Given the description of an element on the screen output the (x, y) to click on. 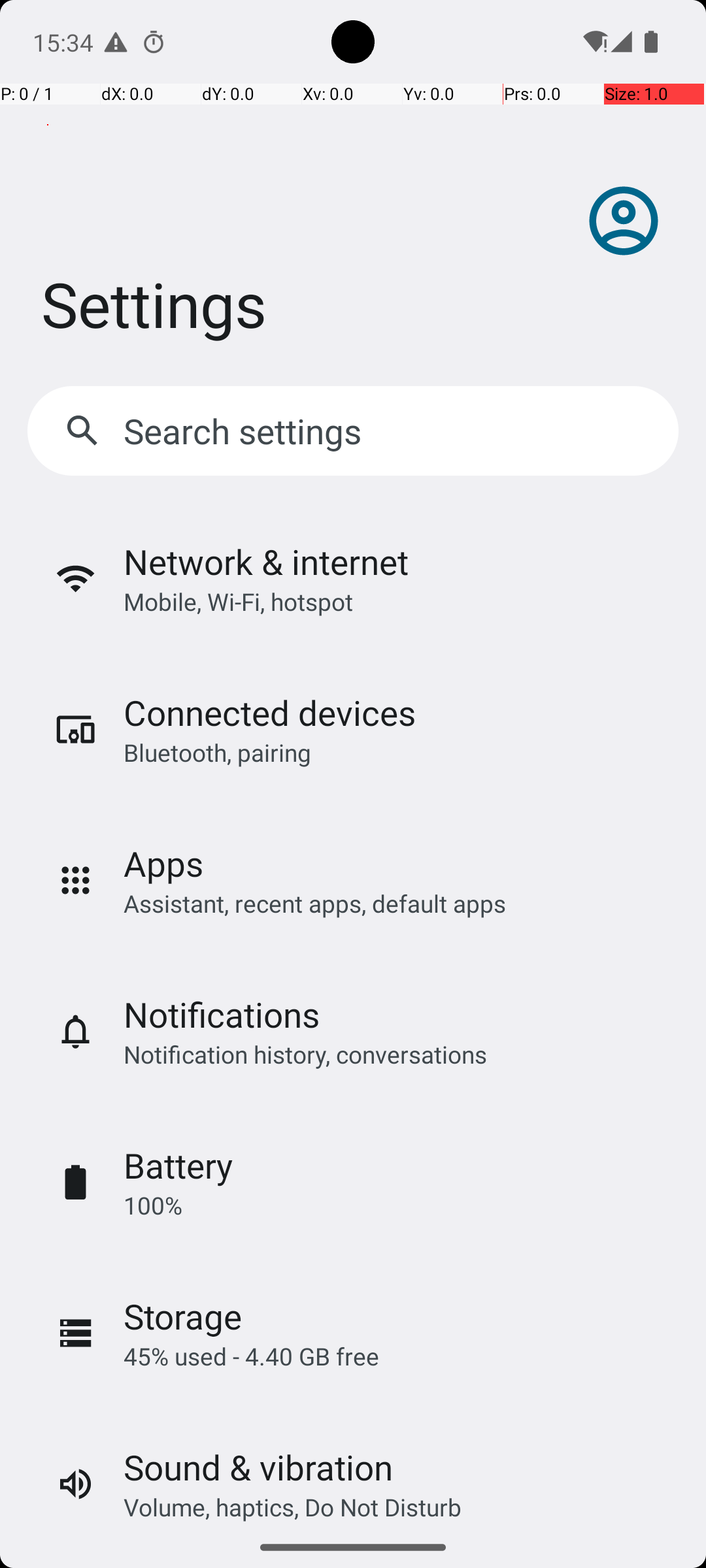
45% used - 4.40 GB free Element type: android.widget.TextView (251, 1355)
Android System notification:  Element type: android.widget.ImageView (115, 41)
